Given the description of an element on the screen output the (x, y) to click on. 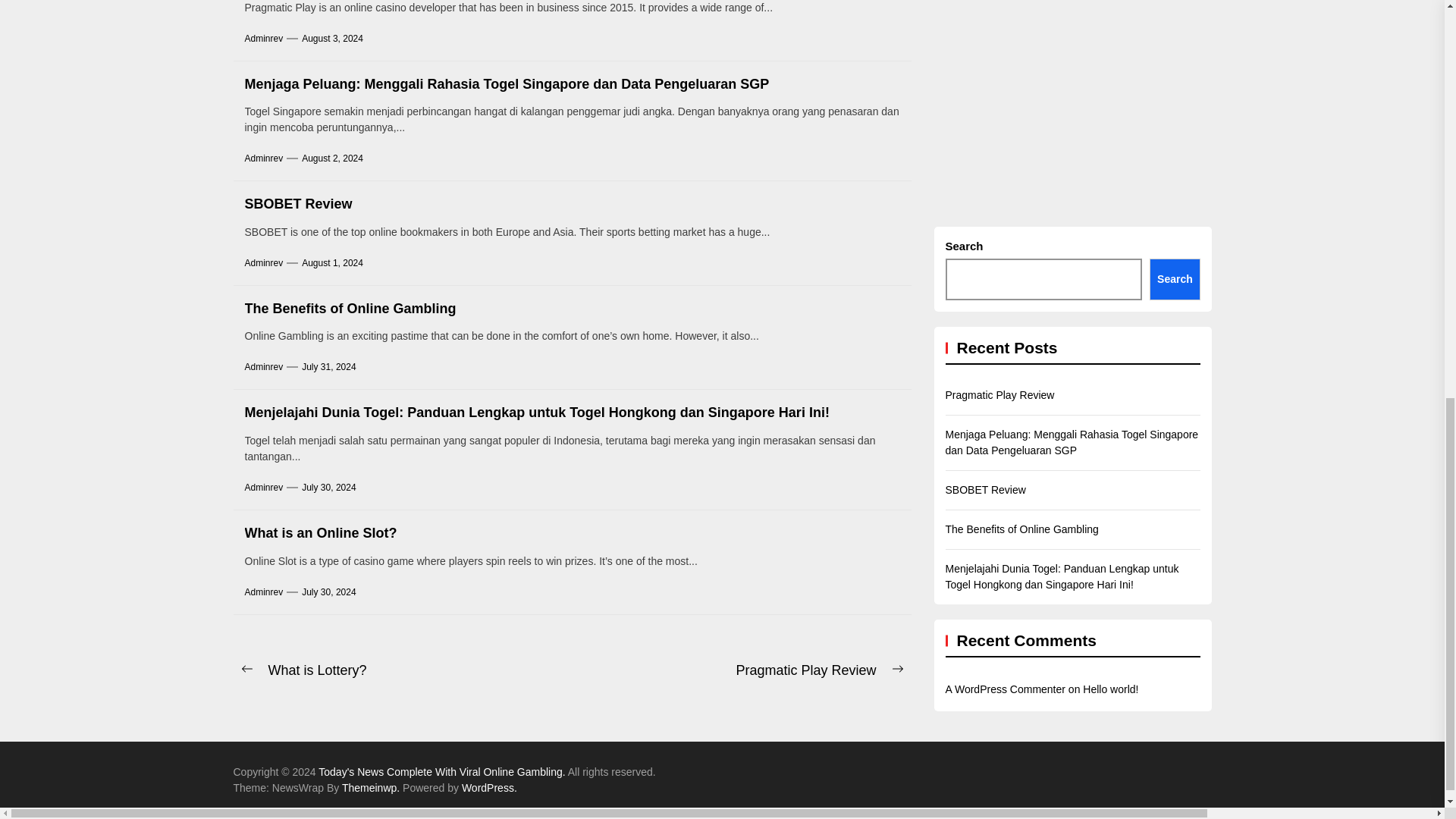
February 2023 (1439, 16)
December 2022 (1439, 94)
October 2022 (1439, 173)
January 2023 (1439, 55)
November 2022 (1439, 134)
July 2022 (1439, 213)
